Given the description of an element on the screen output the (x, y) to click on. 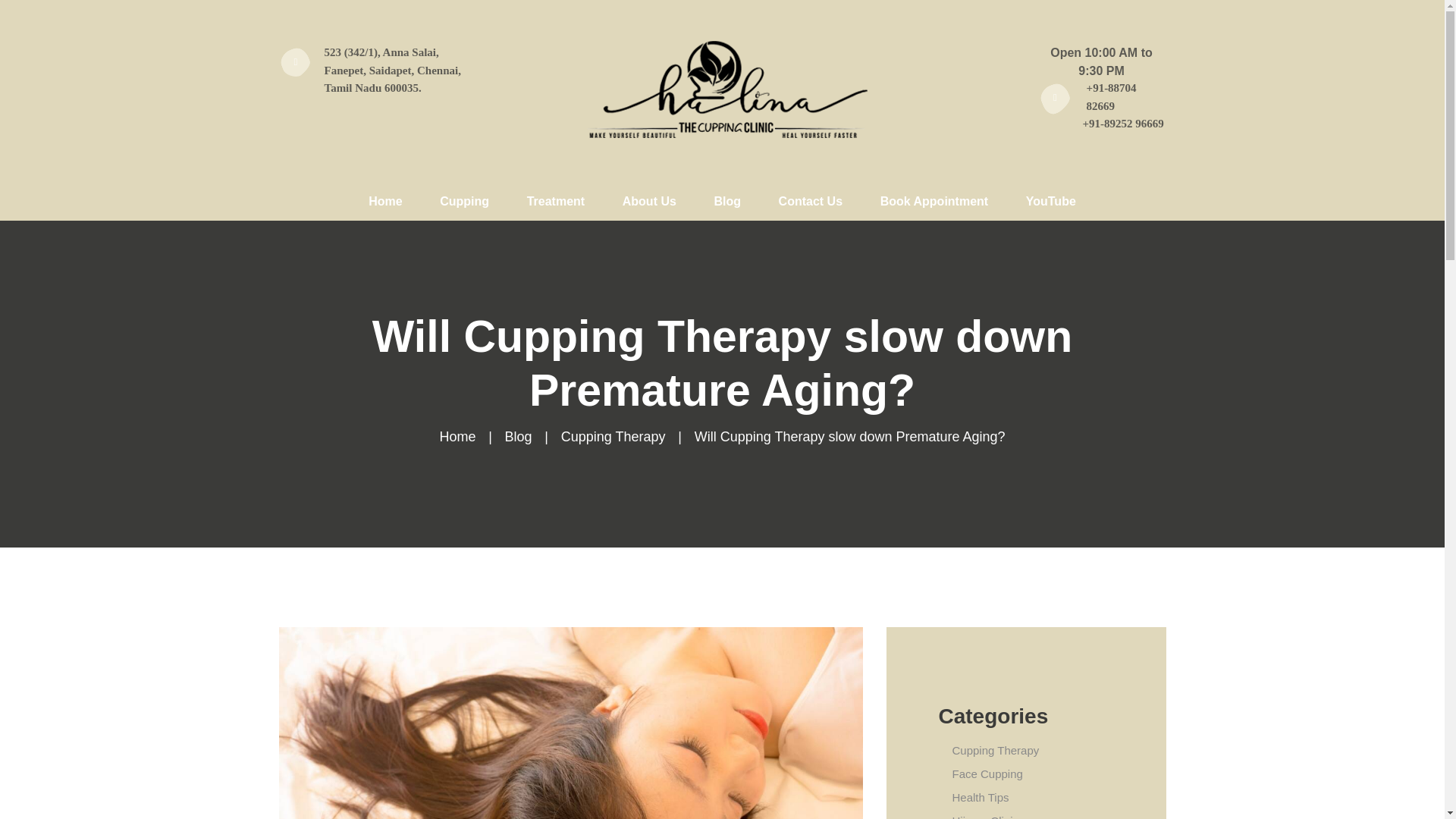
Cupping (463, 202)
Halina Cupping Clinic - Hijama Therapy (721, 88)
Blog (727, 202)
Will Cupping Therapy slow down Premature Aging? (571, 723)
About Us (649, 202)
Contact Us (810, 202)
Home (384, 202)
Treatment (556, 202)
Book Appointment (934, 202)
